Given the description of an element on the screen output the (x, y) to click on. 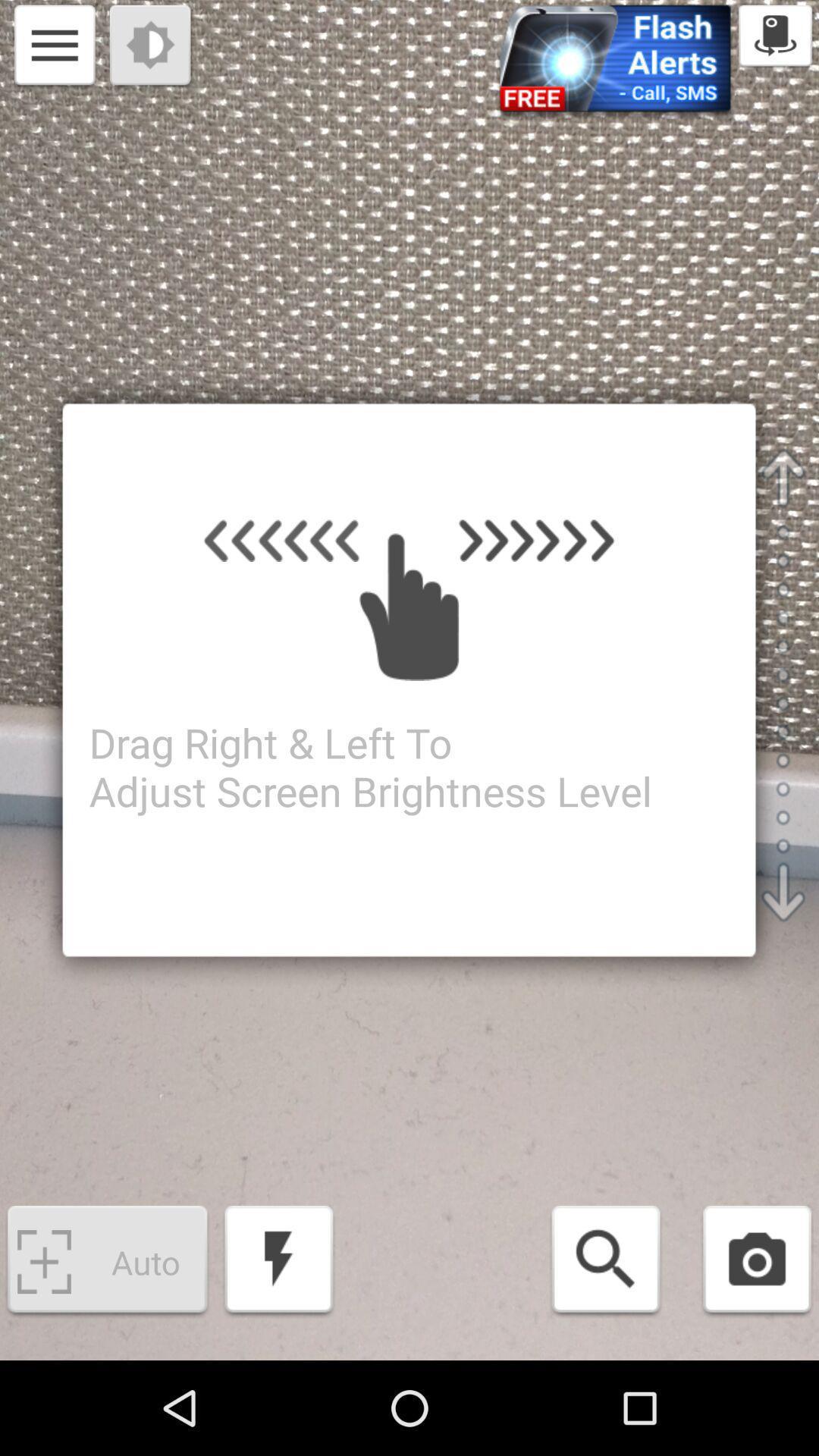
tap the icon above the drag right left item (151, 47)
